Given the description of an element on the screen output the (x, y) to click on. 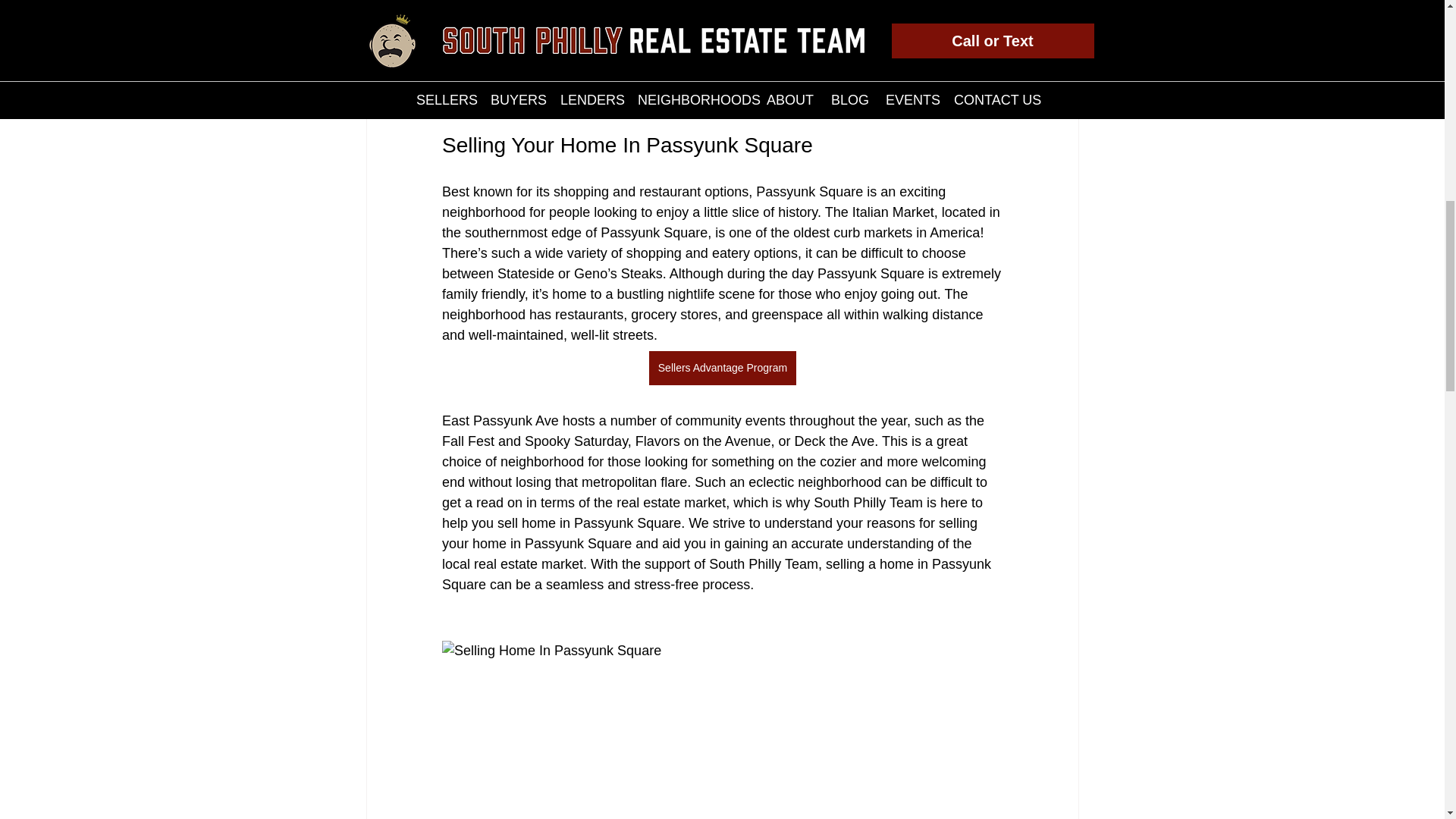
Sellers Advantage Program (720, 367)
